Given the description of an element on the screen output the (x, y) to click on. 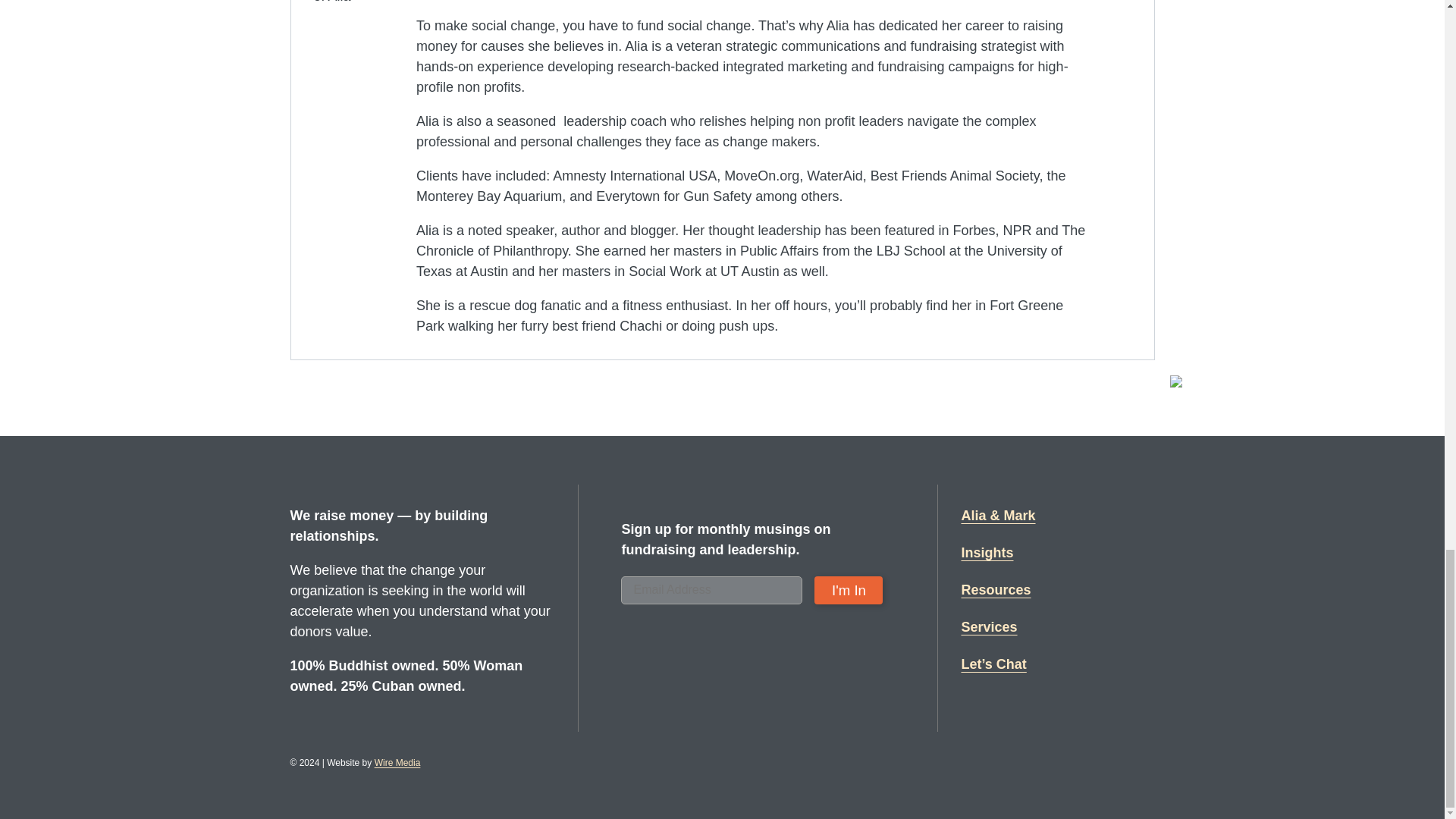
I'm In (847, 590)
Insights (986, 552)
Services (988, 627)
Resources (995, 589)
Wire Media (397, 762)
I'm In (847, 590)
